Given the description of an element on the screen output the (x, y) to click on. 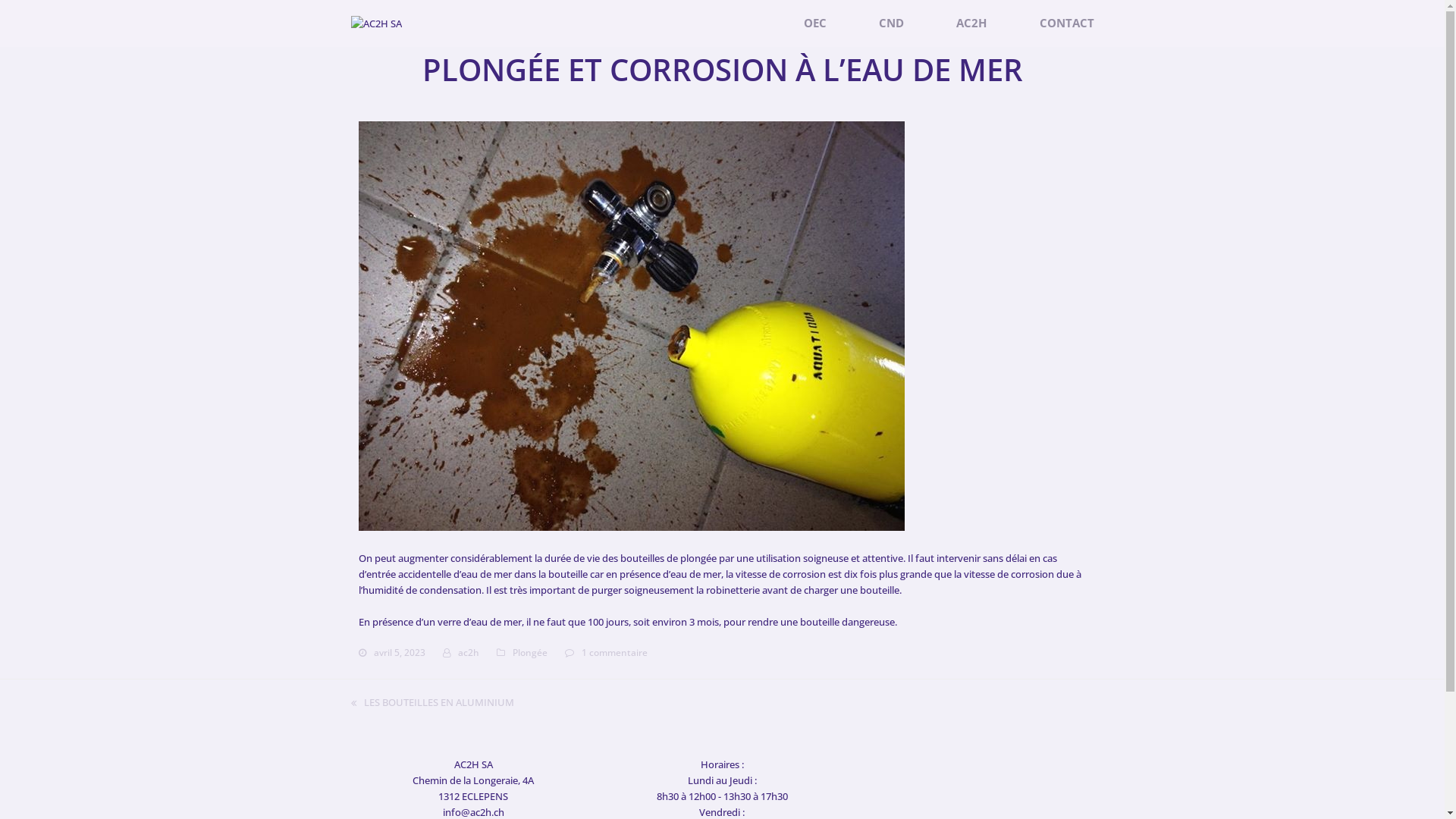
OEC Element type: text (814, 23)
AC2H Element type: text (971, 23)
CND Element type: text (891, 23)
1 commentaire Element type: text (613, 652)
previous post:
LES BOUTEILLES EN ALUMINIUM Element type: text (431, 702)
ac2h Element type: text (468, 652)
CONTACT Element type: text (1065, 23)
